Given the description of an element on the screen output the (x, y) to click on. 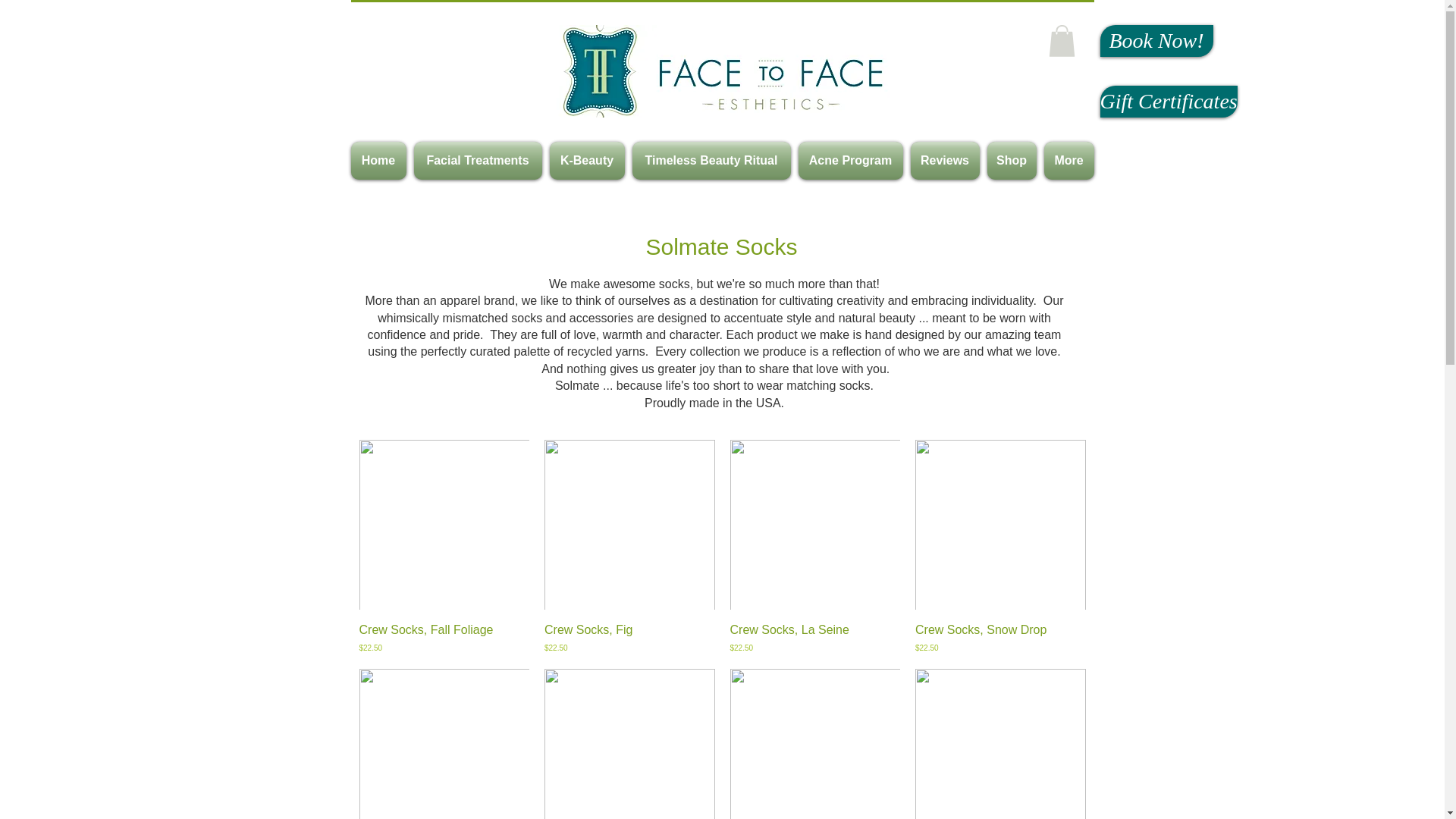
Facial Treatments (476, 160)
Timeless Beauty Ritual (710, 160)
K-Beauty (587, 160)
Home (379, 160)
Gift Certificates (1167, 101)
Reviews (945, 160)
Acne Program (850, 160)
Book Now! (1155, 40)
Shop (1010, 160)
facetoface-banner-2.jpg (722, 71)
